Given the description of an element on the screen output the (x, y) to click on. 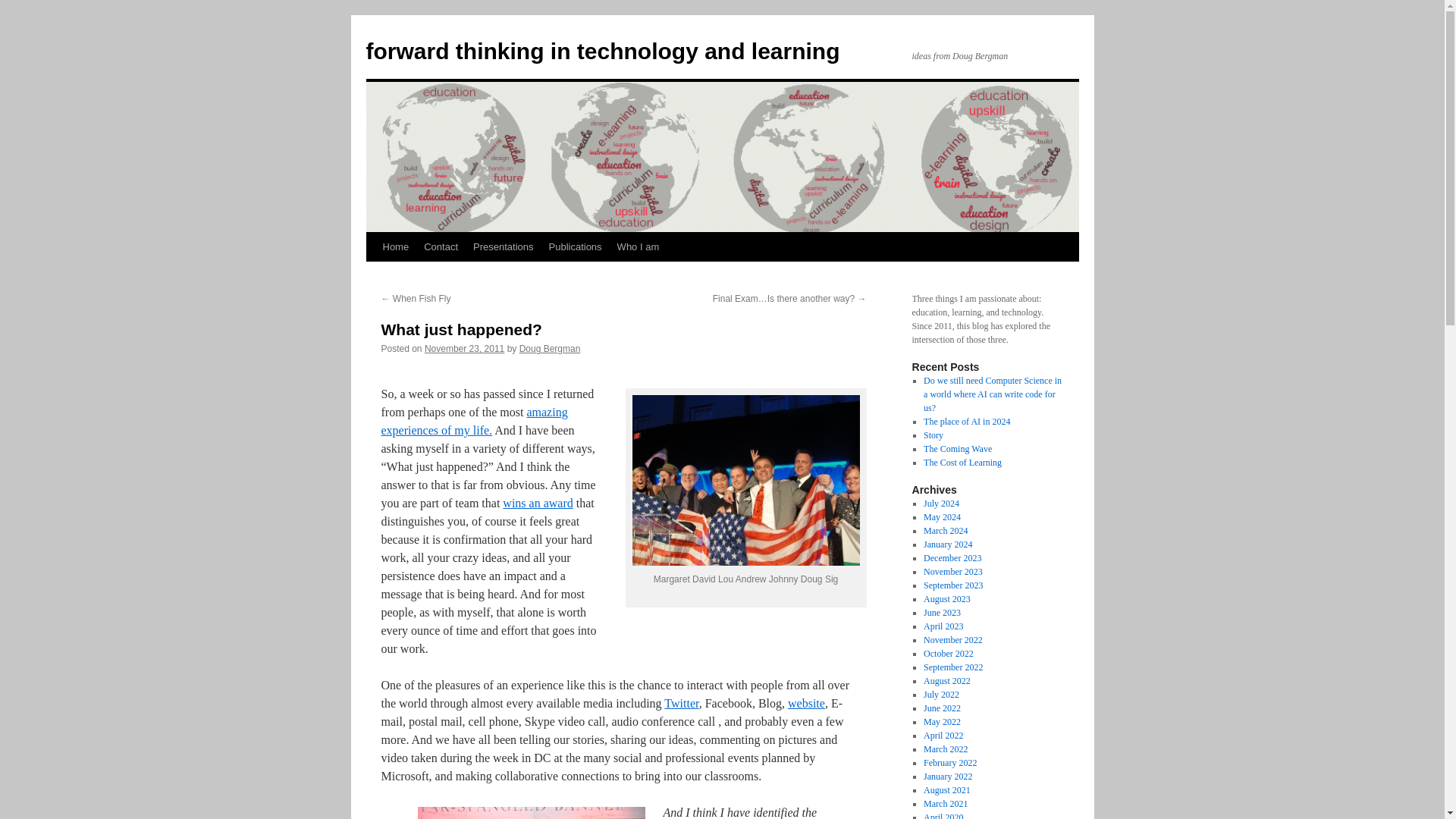
View all posts by Doug Bergman (549, 348)
November 2023 (952, 571)
Who I am (638, 246)
November 23, 2011 (464, 348)
April 2023 (942, 625)
Publications (575, 246)
July 2024 (941, 502)
website (806, 703)
The Coming Wave (957, 448)
